Given the description of an element on the screen output the (x, y) to click on. 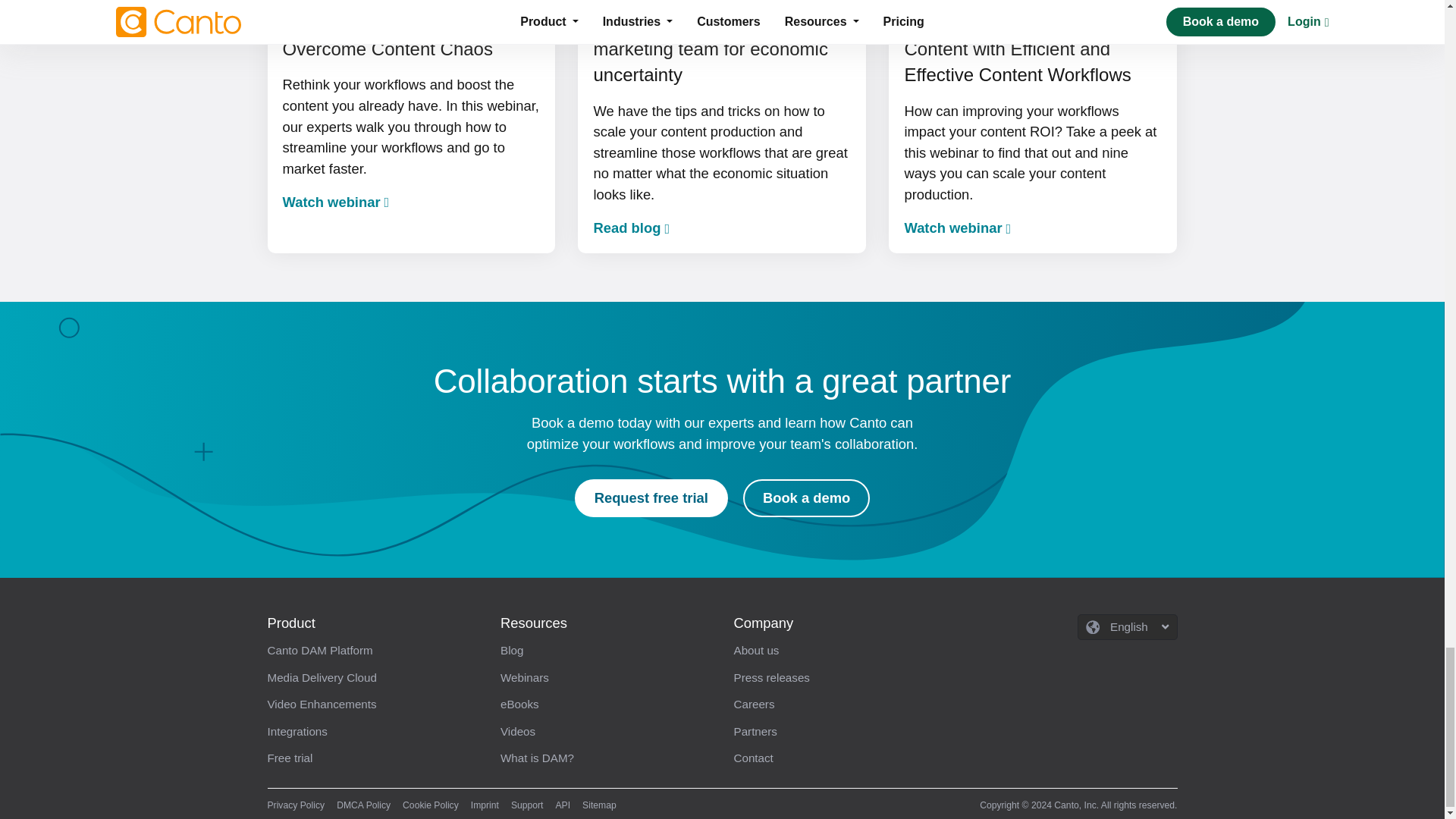
Media Delivery Cloud (371, 677)
Read blog (630, 227)
Videos (605, 731)
About us (838, 651)
Integrations (371, 731)
Book a demo (805, 497)
Careers (838, 705)
Watch webinar (335, 201)
Blog (605, 651)
Free trial (371, 759)
Press releases (838, 677)
Watch webinar (957, 227)
Canto DAM Platform (371, 651)
Partners (838, 731)
Request free trial (651, 497)
